Given the description of an element on the screen output the (x, y) to click on. 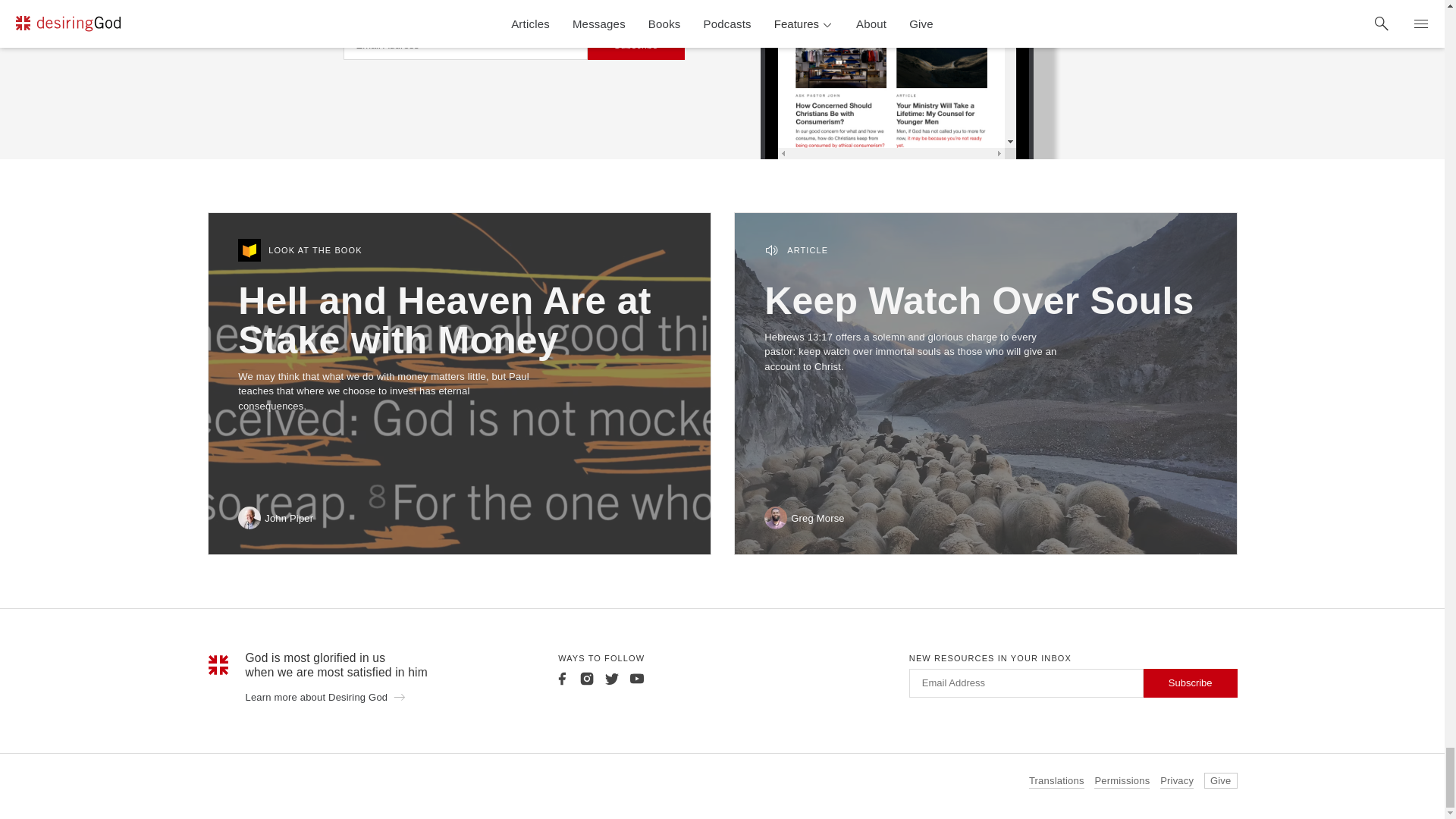
Twitter (612, 678)
Mark - Large (218, 664)
Arrow (399, 696)
